Given the description of an element on the screen output the (x, y) to click on. 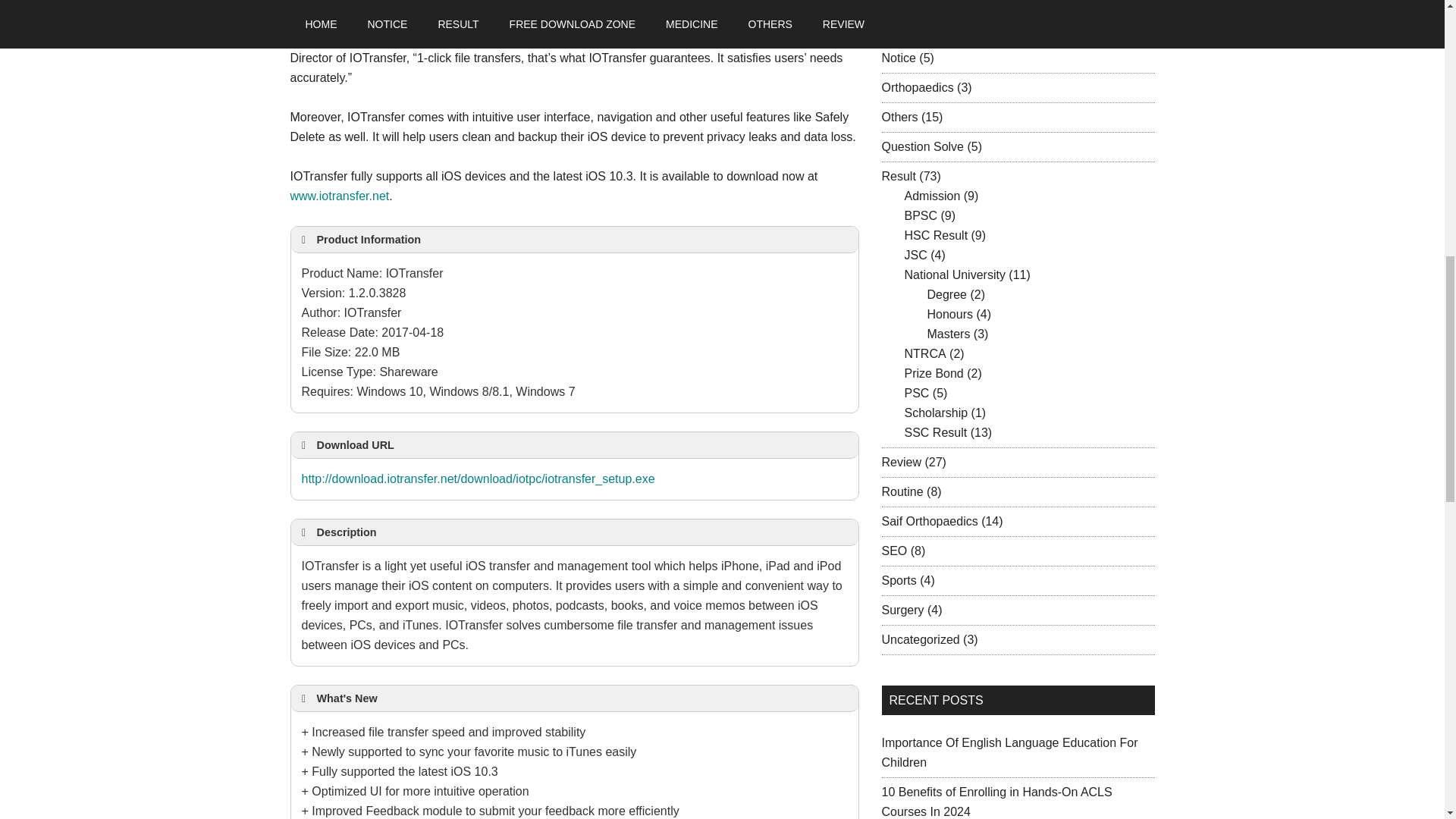
www.iotransfer.net (338, 195)
